Given the description of an element on the screen output the (x, y) to click on. 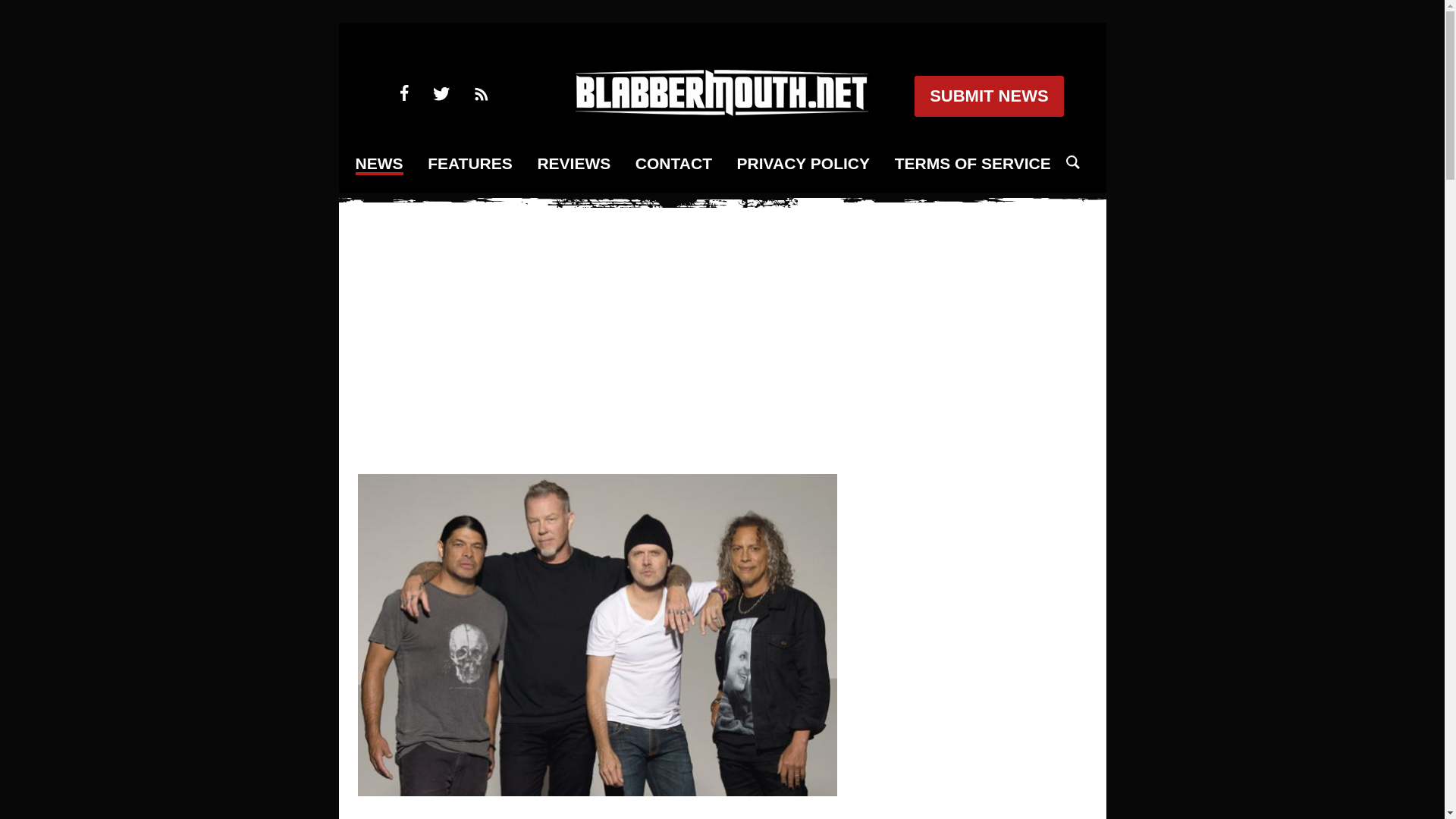
search icon (1072, 161)
REVIEWS (573, 163)
SUBMIT NEWS (988, 96)
CONTACT (672, 163)
FEATURES (470, 163)
NEWS (379, 164)
PRIVACY POLICY (802, 163)
blabbermouth (721, 110)
TERMS OF SERVICE (973, 163)
